Given the description of an element on the screen output the (x, y) to click on. 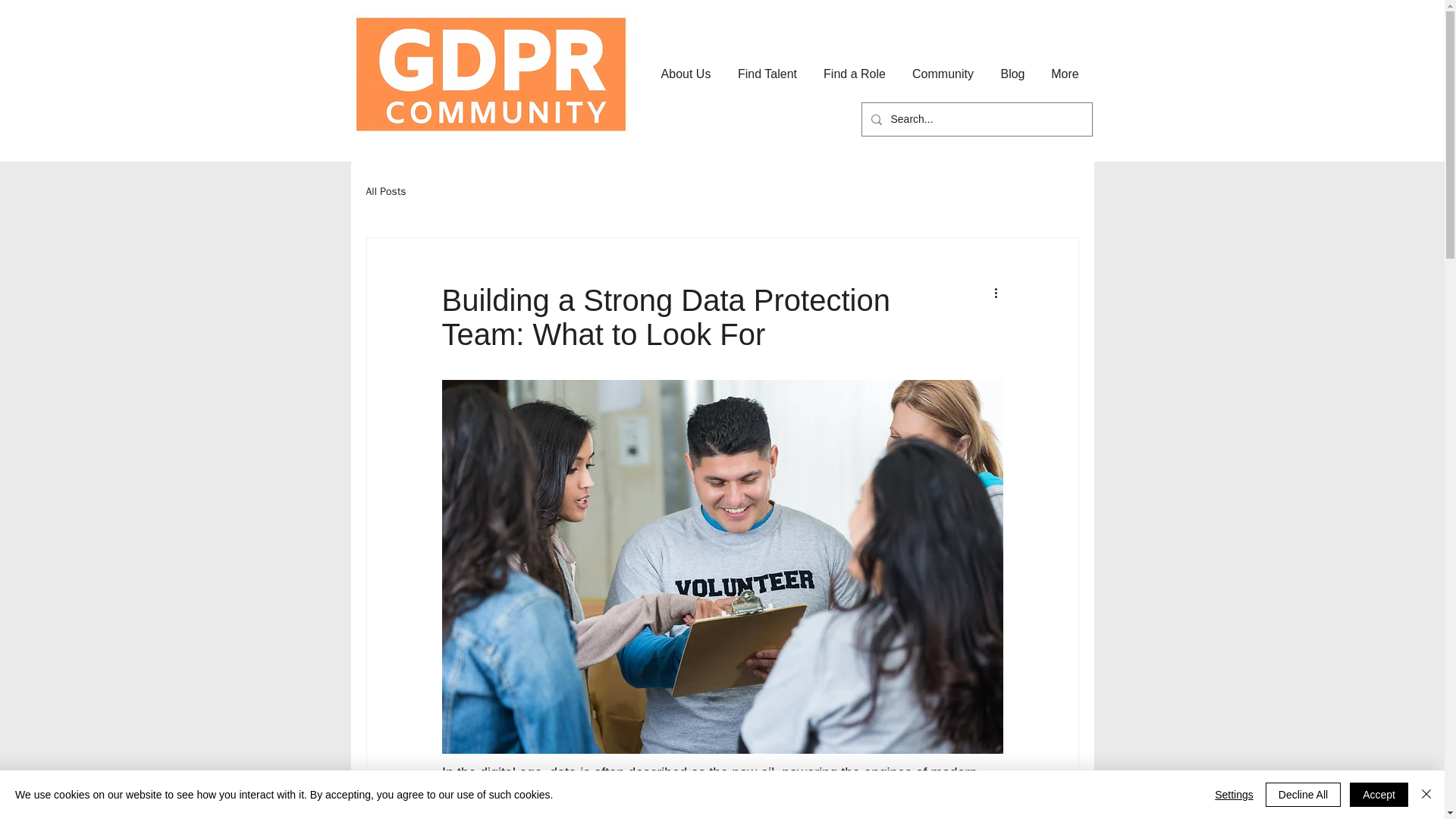
Decline All (1302, 794)
Accept (1378, 794)
Find a Role (853, 73)
All Posts (385, 192)
Find Talent (767, 73)
About Us (686, 73)
Community (943, 73)
Blog (1013, 73)
